Given the description of an element on the screen output the (x, y) to click on. 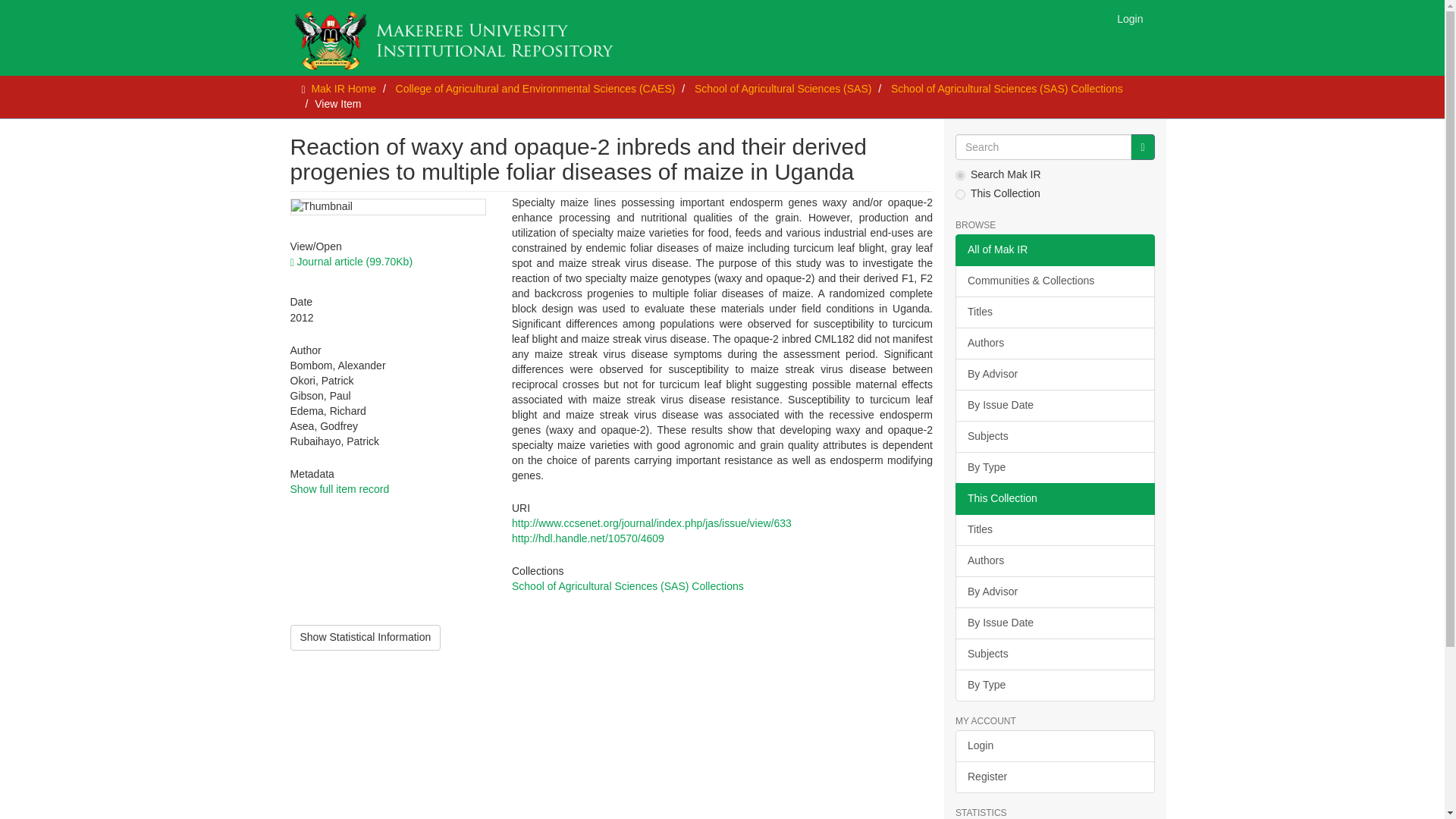
All of Mak IR (1054, 250)
By Advisor (1054, 374)
Go (1142, 146)
Authors (1054, 343)
Titles (1054, 312)
Titles (1054, 530)
Show Statistical Information (365, 637)
Authors (1054, 561)
By Advisor (1054, 592)
By Issue Date (1054, 405)
This Collection (1054, 499)
Login (1129, 18)
Show full item record (338, 489)
Mak IR Home (343, 88)
By Type (1054, 468)
